Given the description of an element on the screen output the (x, y) to click on. 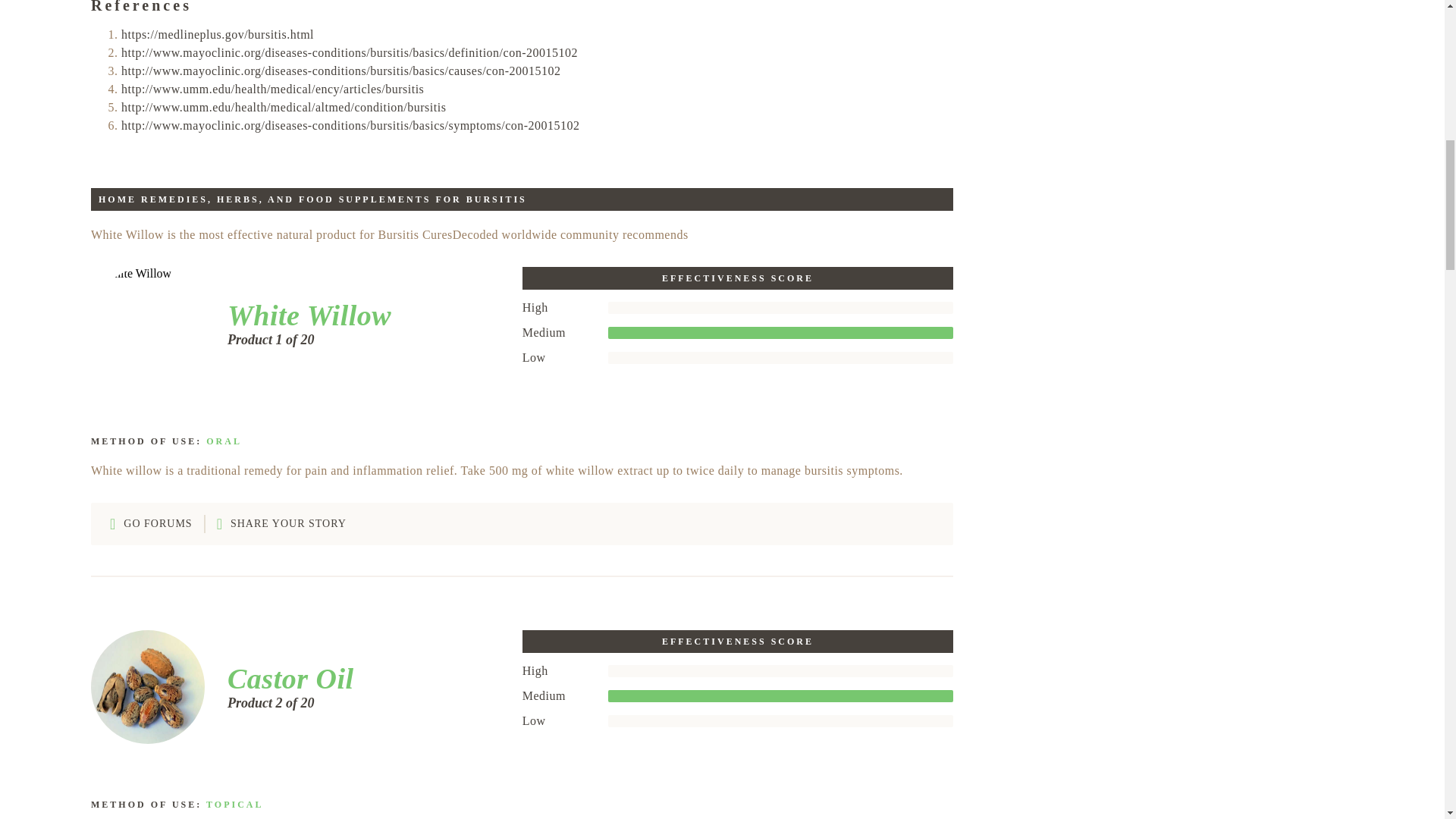
GO FORUMS (151, 524)
White Willow (304, 315)
SHARE YOUR STORY (281, 524)
Castor Oil (285, 678)
